Given the description of an element on the screen output the (x, y) to click on. 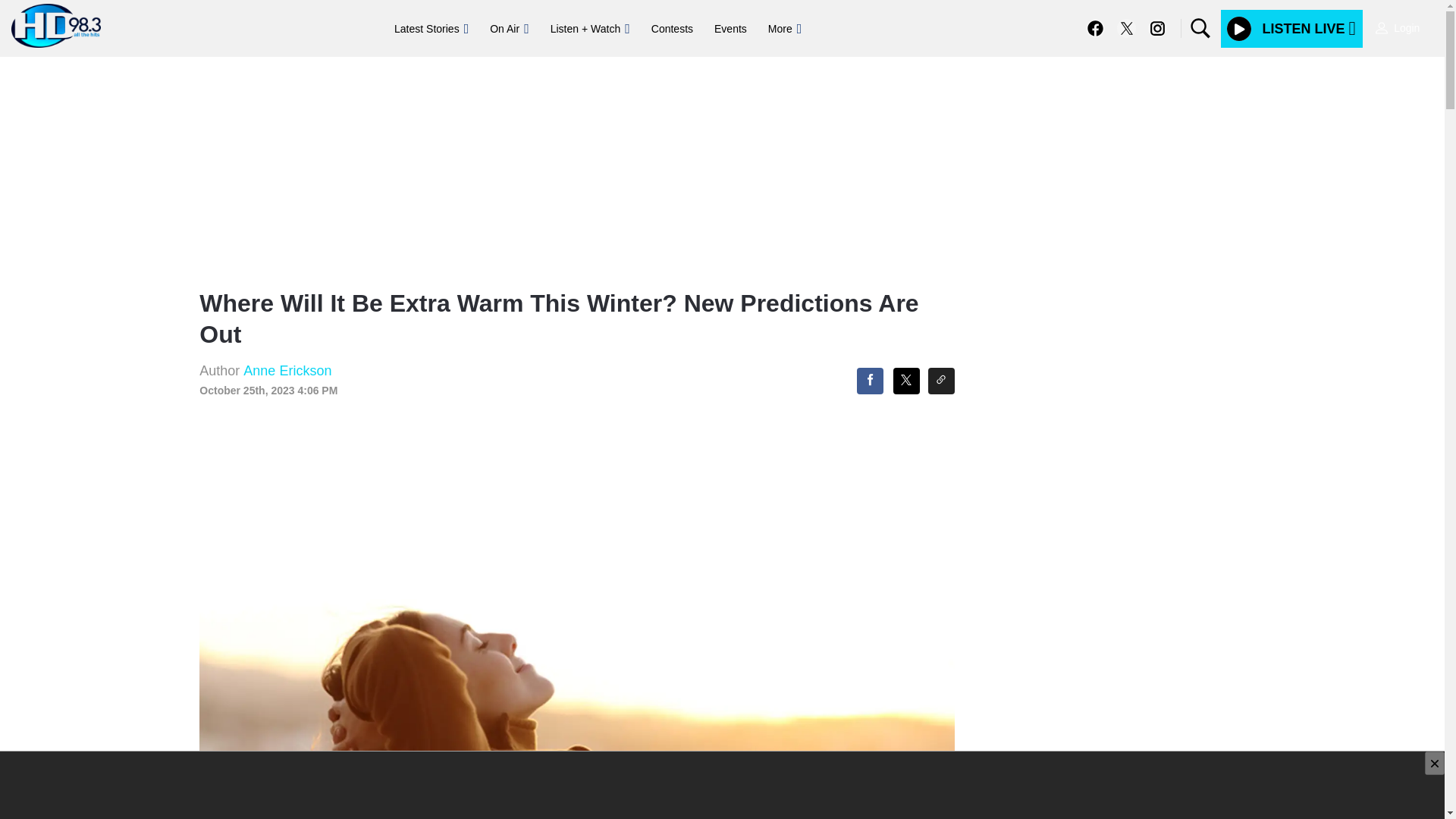
Latest Stories (431, 28)
Close AdCheckmark indicating ad close (1434, 763)
Events (730, 28)
Contests (671, 28)
Anne Erickson (287, 370)
On Air (508, 28)
More (784, 28)
